Given the description of an element on the screen output the (x, y) to click on. 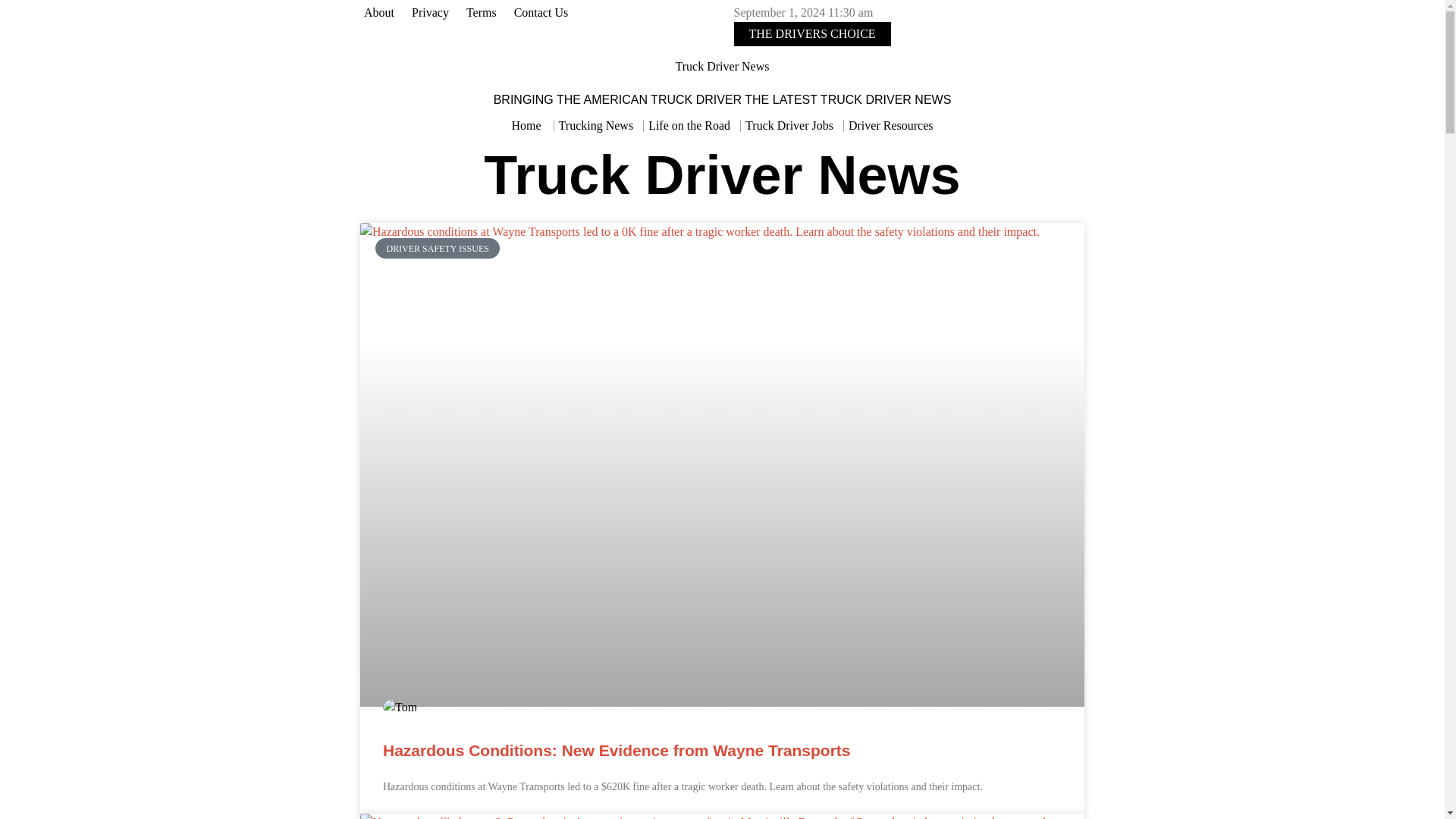
Truck Driver Jobs (789, 126)
THE DRIVERS CHOICE (812, 33)
Life on the Road (689, 126)
Terms (482, 13)
Home (526, 126)
Trucking News (596, 126)
About (380, 13)
Contact Us (542, 13)
